Given the description of an element on the screen output the (x, y) to click on. 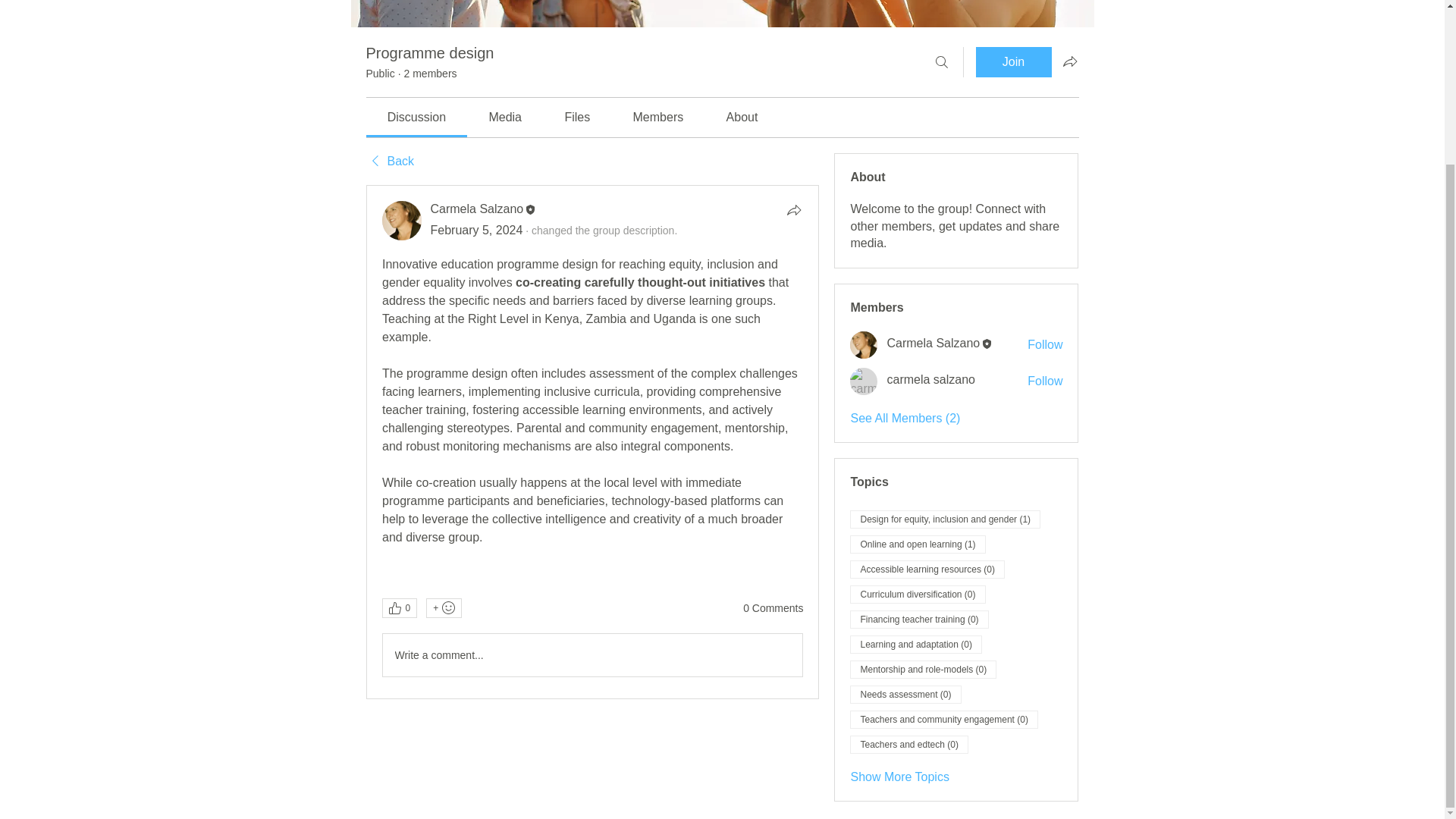
Write a comment... (591, 654)
carmela salzano (930, 379)
0 Comments (772, 608)
Carmela Salzano (477, 208)
Carmela Salzano (477, 208)
Carmela Salzano (401, 220)
Join (1013, 61)
Back (389, 161)
Follow (1044, 381)
Carmela Salzano (863, 344)
